Given the description of an element on the screen output the (x, y) to click on. 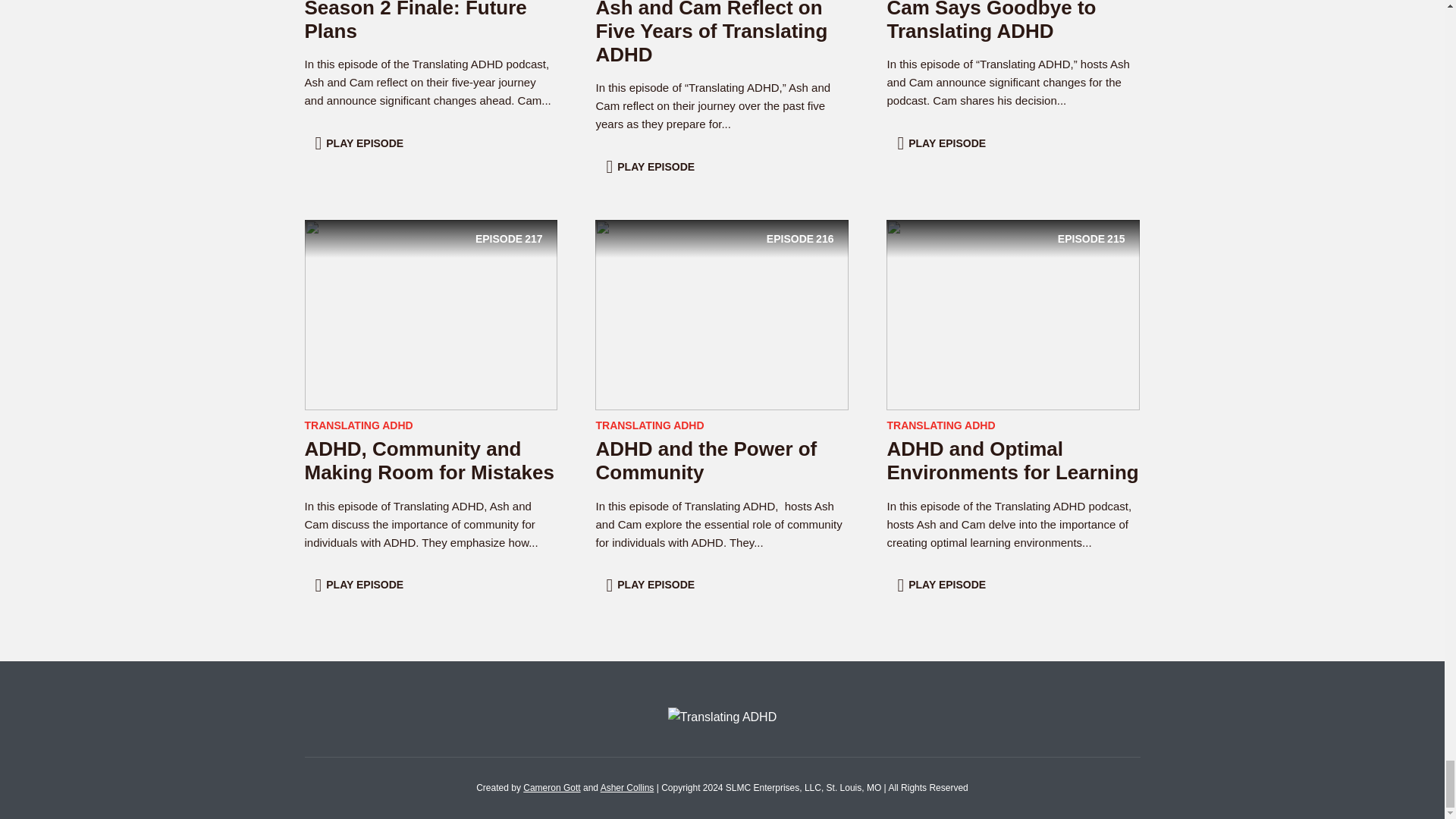
Season 2 Finale: Future Plans (415, 21)
PLAY EPISODE (361, 142)
Ash and Cam Reflect on Five Years of Translating ADHD (711, 33)
PLAY EPISODE (652, 166)
